Given the description of an element on the screen output the (x, y) to click on. 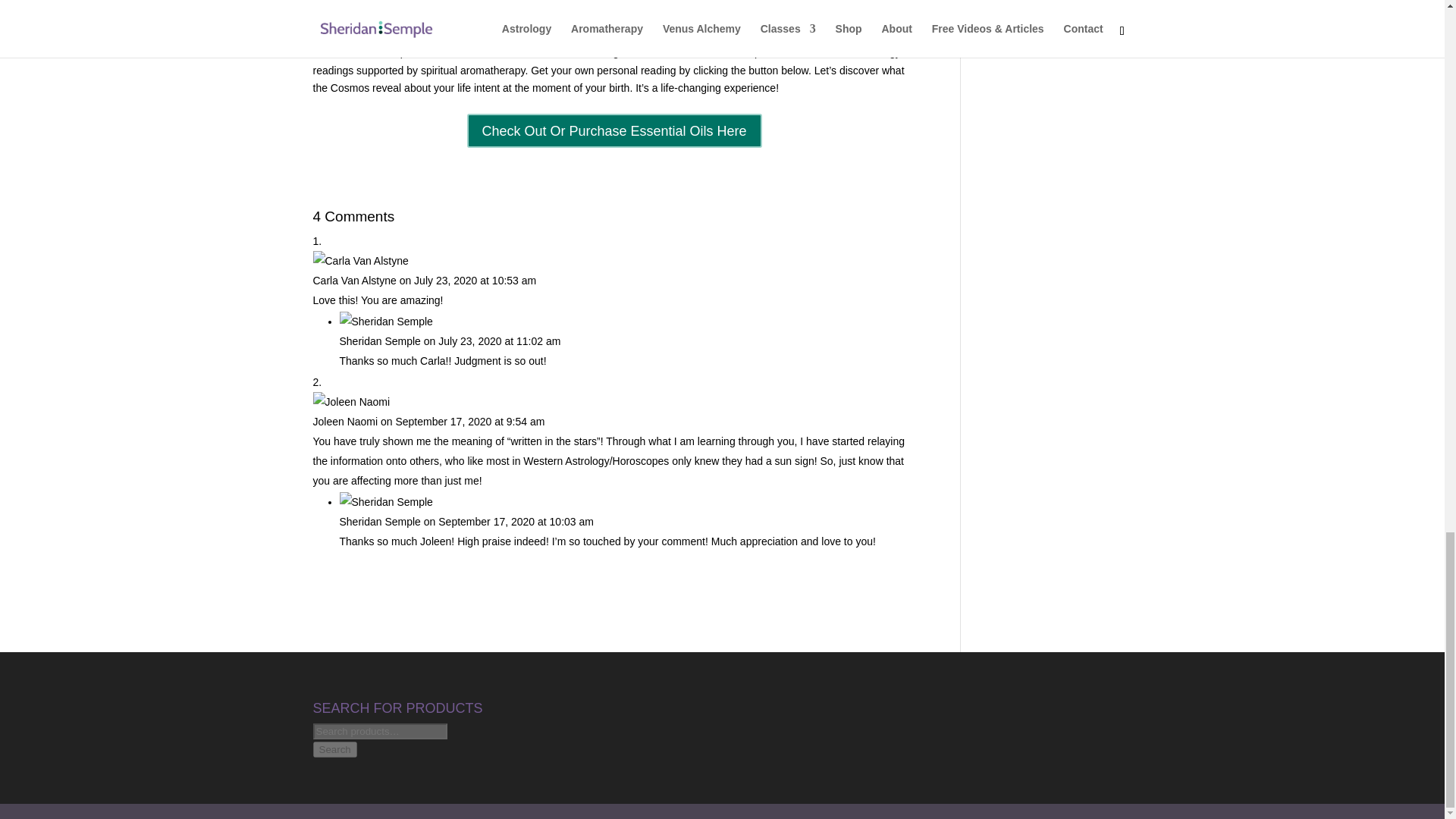
Search (334, 749)
Get Your Shamanic Astrology Reading Here (613, 18)
Check Out Or Purchase Essential Oils Here (614, 130)
